Given the description of an element on the screen output the (x, y) to click on. 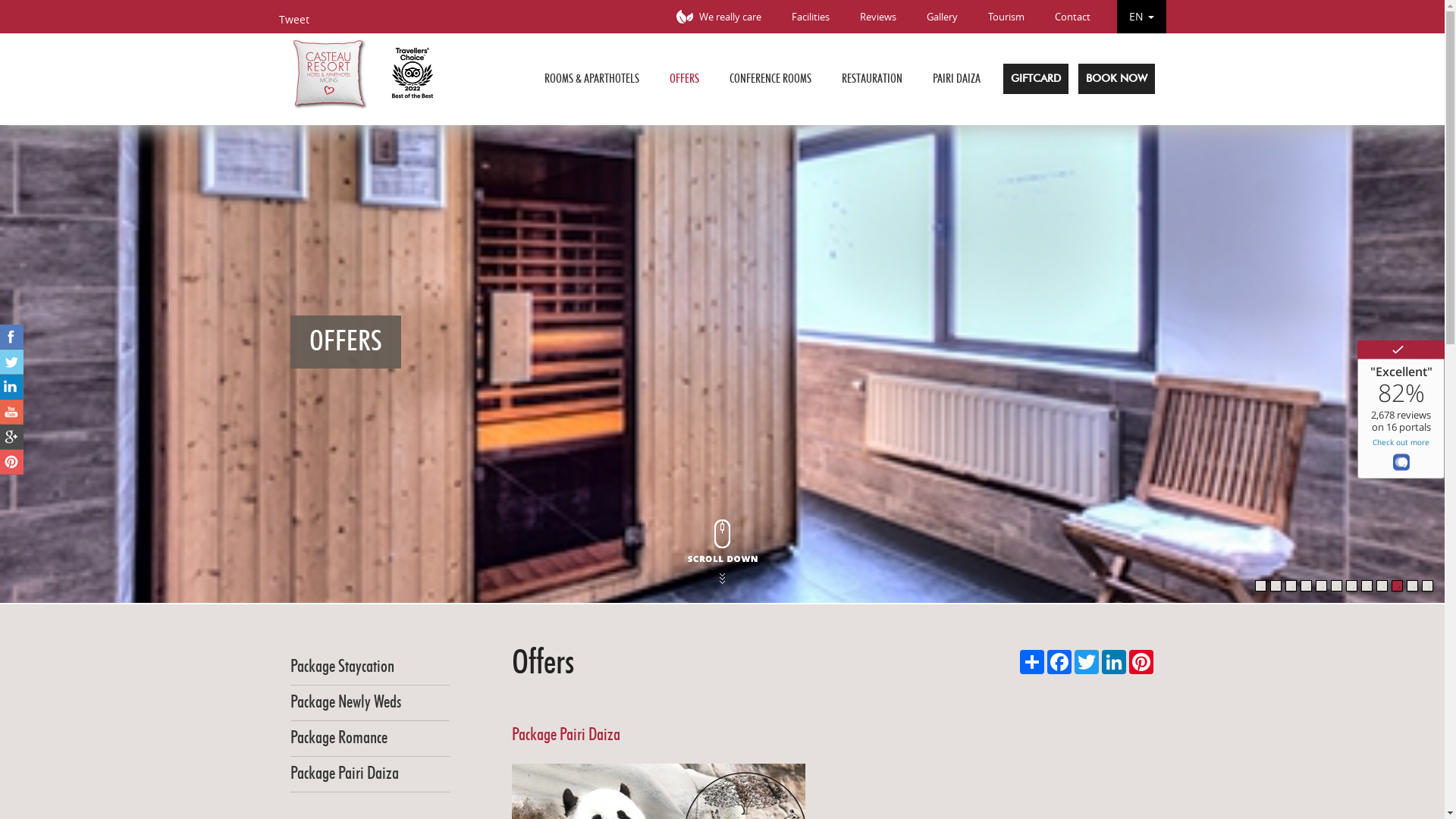
Tourism Element type: text (1005, 16)
4 Element type: text (1305, 585)
7 Element type: text (1351, 585)
PAIRI DAIZA Element type: text (956, 78)
6 Element type: text (1336, 585)
Package Staycation Element type: text (341, 666)
2 Element type: text (1275, 585)
GIFTCARD Element type: text (1034, 78)
Twitter Element type: text (1085, 661)
5 Element type: text (1321, 585)
Reviews Element type: text (877, 16)
Tweet Element type: text (294, 19)
12 Element type: text (1427, 585)
9 Element type: text (1381, 585)
Contact Element type: text (1071, 16)
Package Romance Element type: text (337, 737)
Package Pairi Daiza Element type: text (343, 773)
Facebook Element type: text (1058, 661)
We really care Element type: text (714, 16)
3 Element type: text (1290, 585)
8 Element type: text (1366, 585)
EN Element type: text (1140, 16)
LinkedIn Element type: text (1112, 661)
11 Element type: text (1412, 585)
10 Element type: text (1396, 585)
Pinterest Element type: text (1140, 661)
1 Element type: text (1260, 585)
Facilities Element type: text (810, 16)
ROOMS & APARTHOTELS Element type: text (591, 78)
Gallery Element type: text (941, 16)
Package Newly Weds Element type: text (344, 702)
Share Element type: text (1030, 661)
BOOK NOW Element type: text (1116, 78)
RESTAURATION Element type: text (872, 78)
OFFERS Element type: text (683, 78)
CONFERENCE ROOMS Element type: text (770, 78)
